Given the description of an element on the screen output the (x, y) to click on. 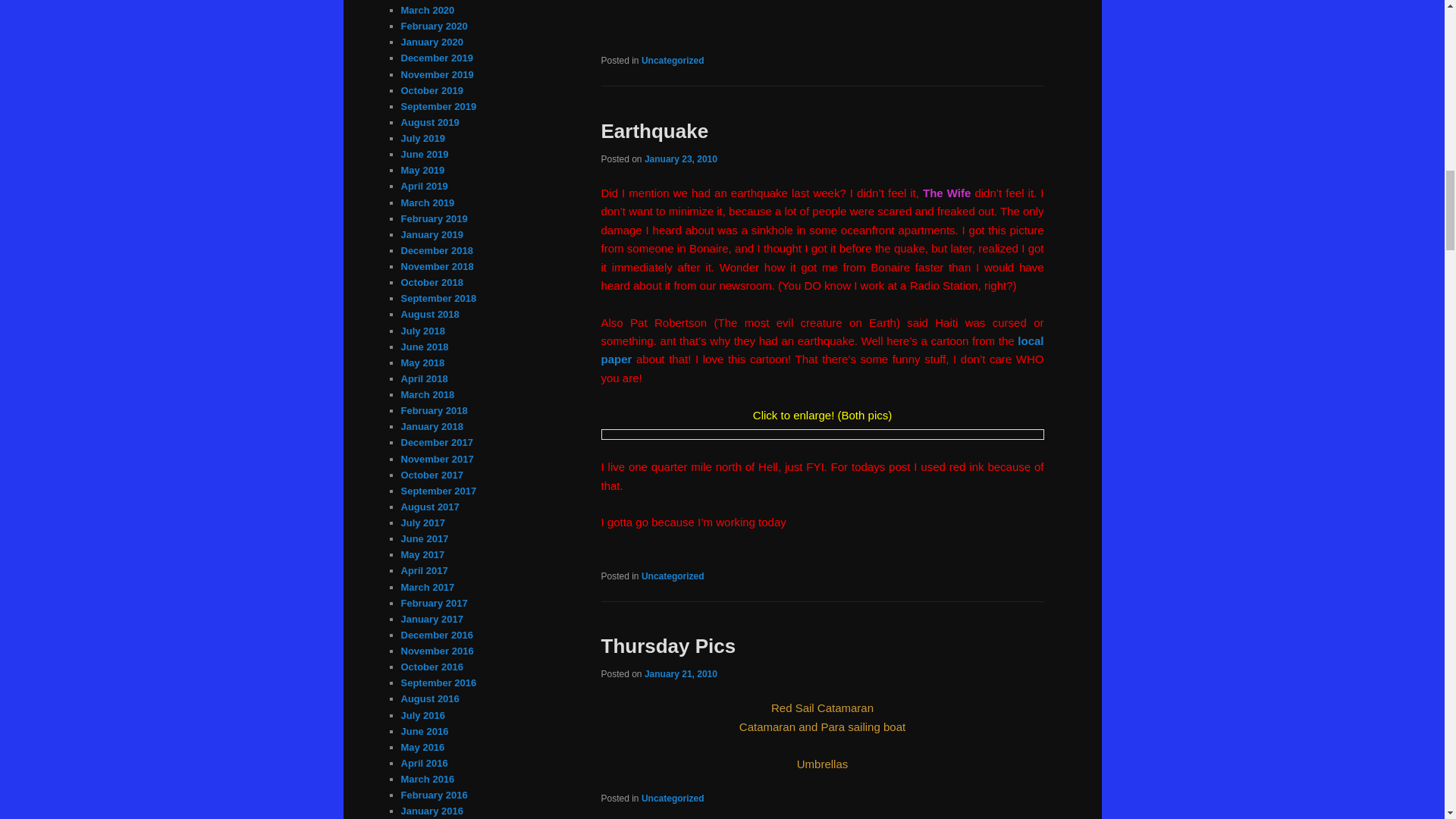
11:07 am (681, 674)
11:45 am (681, 158)
